Given the description of an element on the screen output the (x, y) to click on. 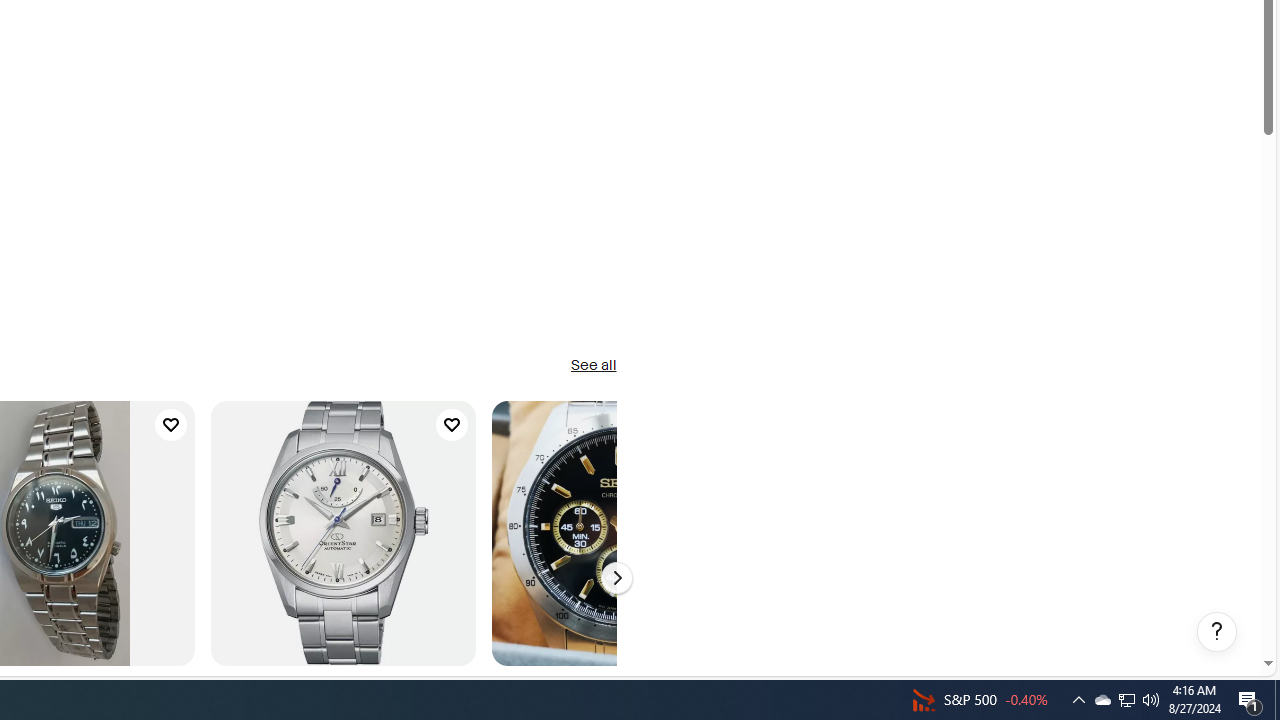
Go to the next slide, Wristwatches - Carousel (616, 578)
See all (592, 366)
Help, opens dialogs (1217, 632)
